Given the description of an element on the screen output the (x, y) to click on. 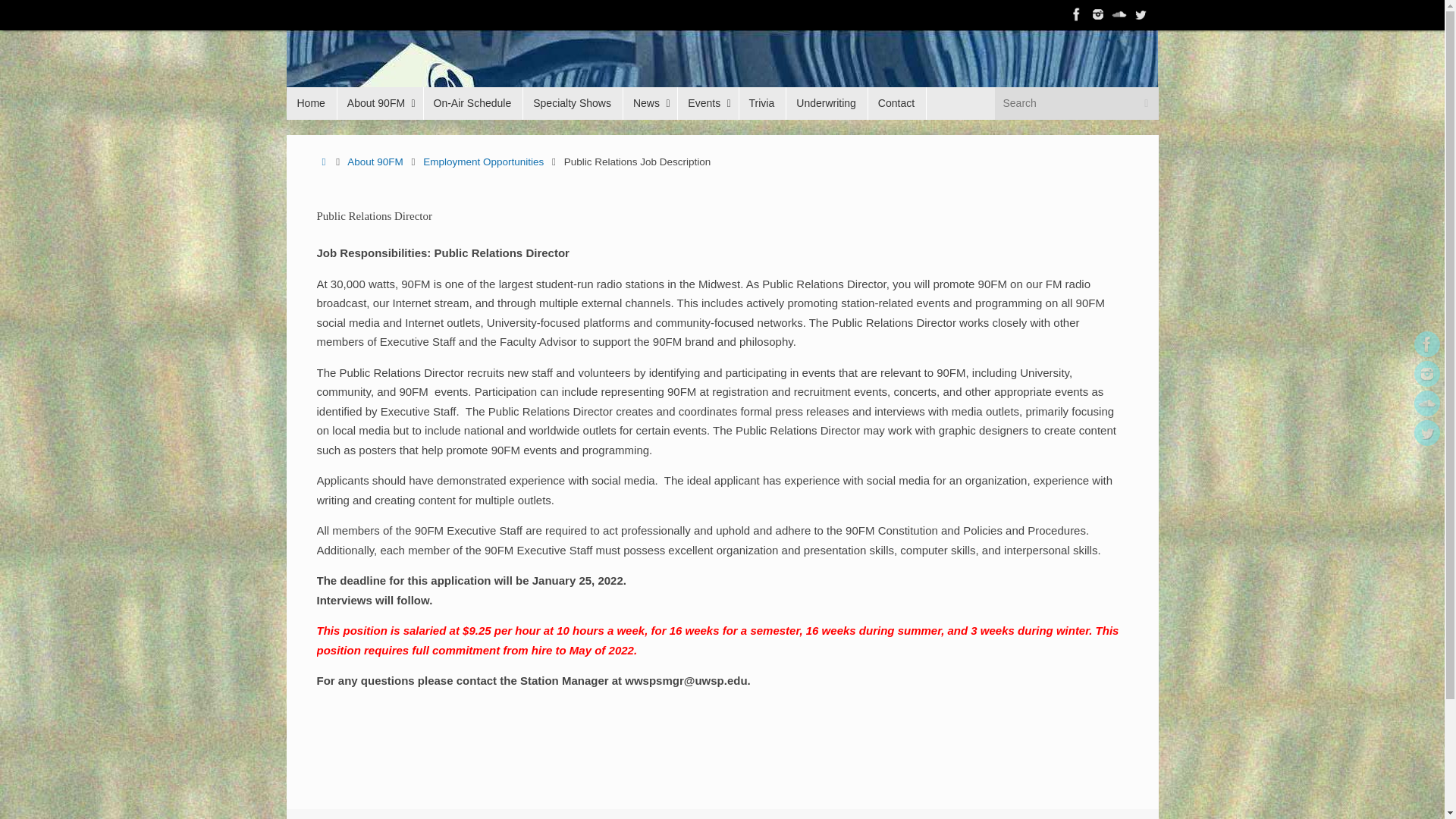
Trivia (762, 102)
Events (707, 102)
Contact (896, 102)
On-Air Schedule (472, 102)
Instagram (1426, 373)
SoundCloud (1426, 403)
Facebook (1426, 344)
Specialty Shows (572, 102)
Twitter (1140, 14)
Instagram (1097, 14)
SoundCloud (1118, 14)
Twitter (1426, 432)
Facebook (1076, 14)
Underwriting (826, 102)
